Given the description of an element on the screen output the (x, y) to click on. 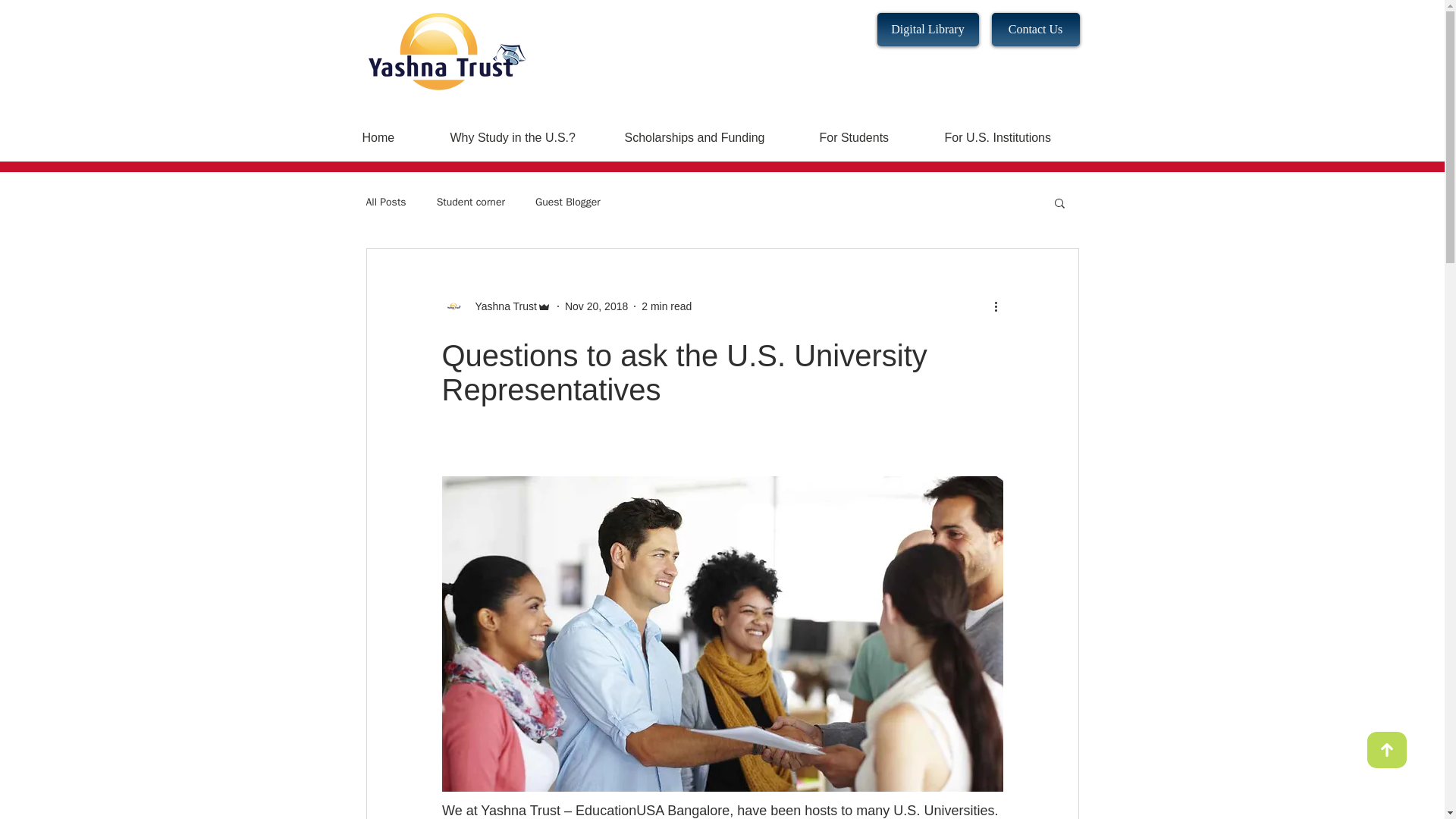
Nov 20, 2018 (595, 306)
All Posts (385, 202)
Home (394, 137)
Yashna Trust (495, 306)
Contact Us (1035, 29)
Digital Library (927, 29)
For U.S. Institutions (1013, 137)
2 min read (666, 306)
Scholarships and Funding (710, 137)
Student corner (470, 202)
Yashna Trust (500, 306)
Guest Blogger (567, 202)
